Given the description of an element on the screen output the (x, y) to click on. 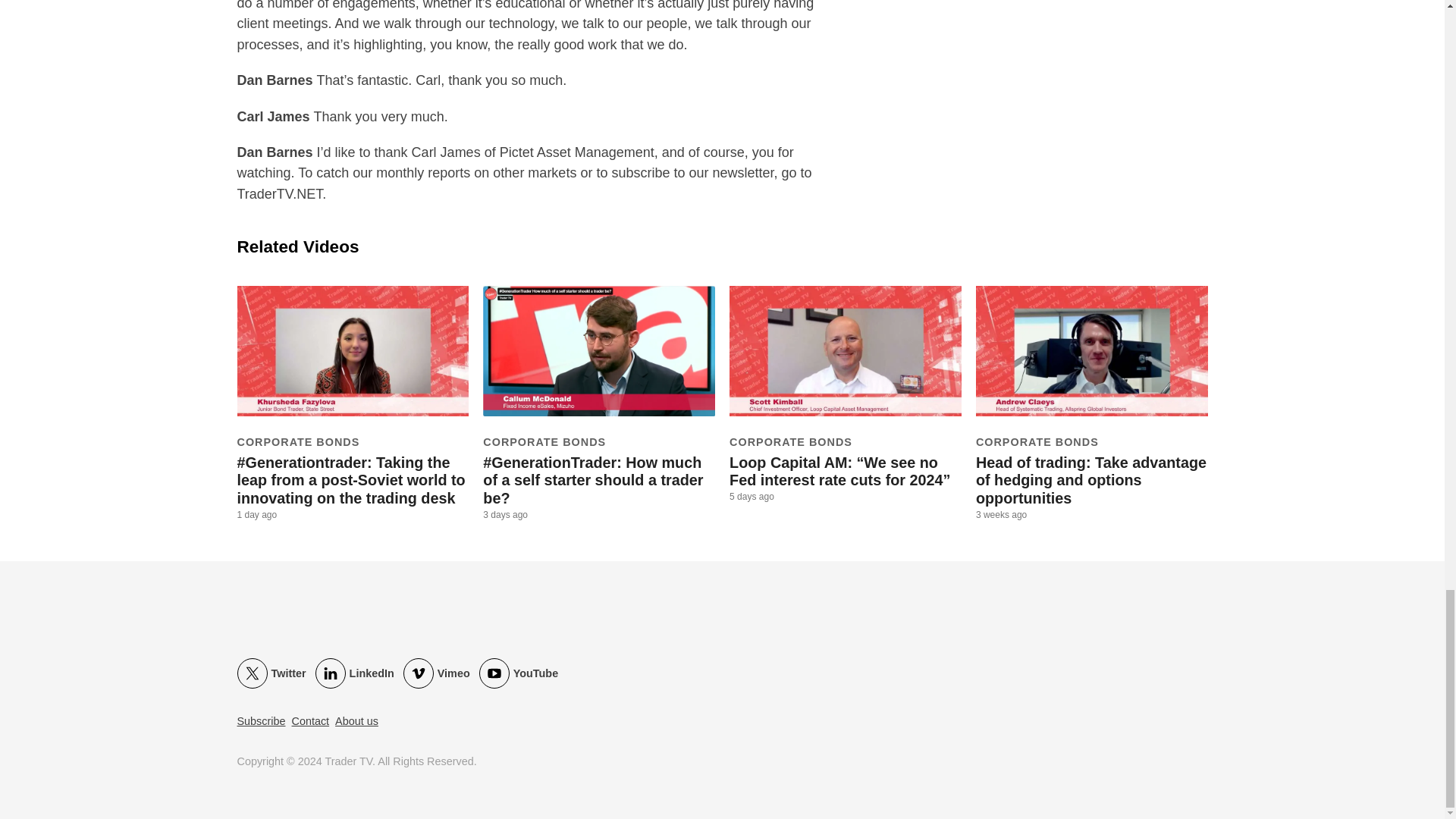
CORPORATE BONDS (297, 441)
